Given the description of an element on the screen output the (x, y) to click on. 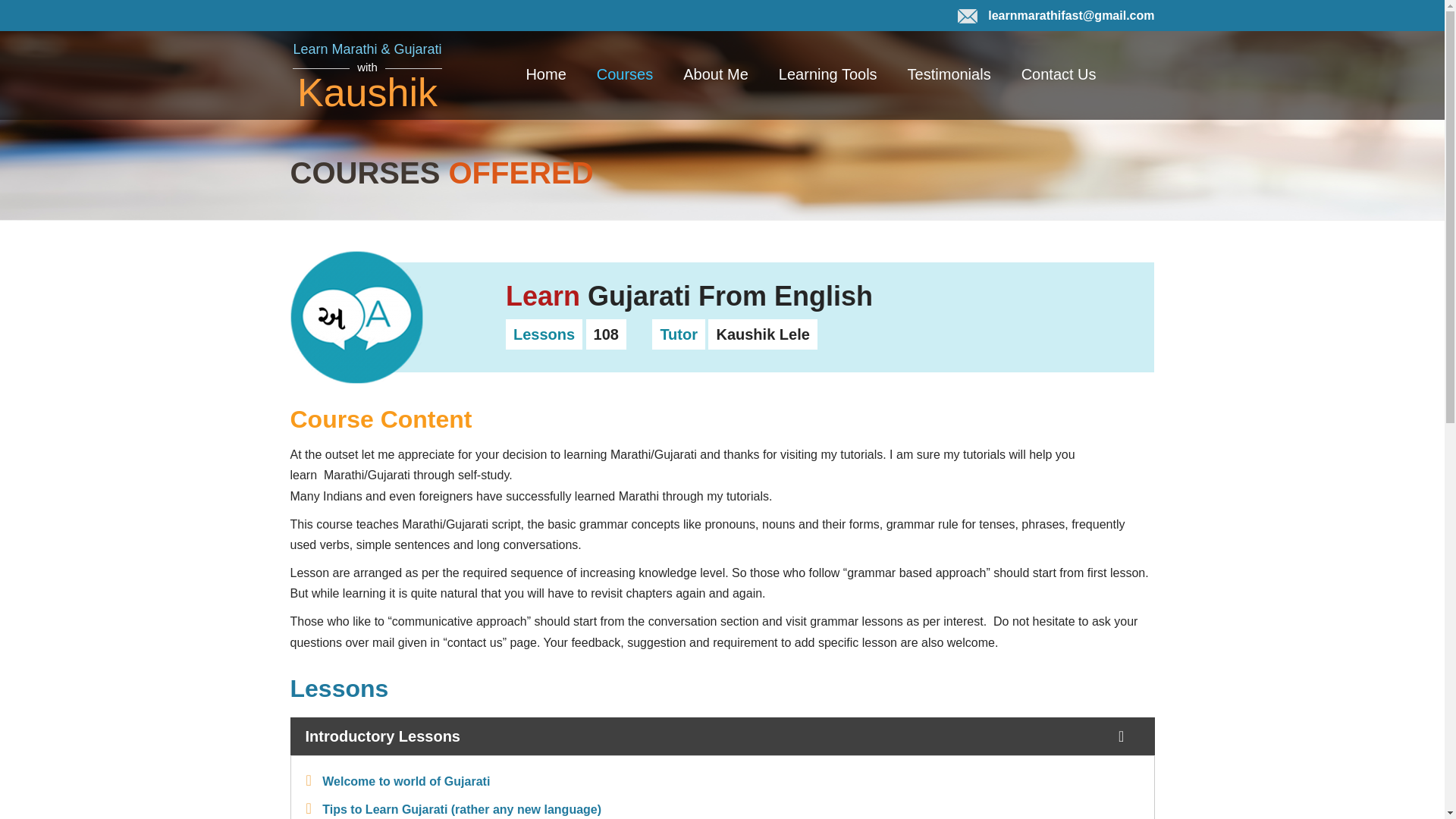
Welcome to world of Gujarati (405, 780)
Introductory Lessons (721, 736)
Learning Tools (827, 74)
Home (545, 74)
Courses (624, 74)
Testimonials (949, 74)
About Me (715, 74)
Contact Us (1059, 74)
